Given the description of an element on the screen output the (x, y) to click on. 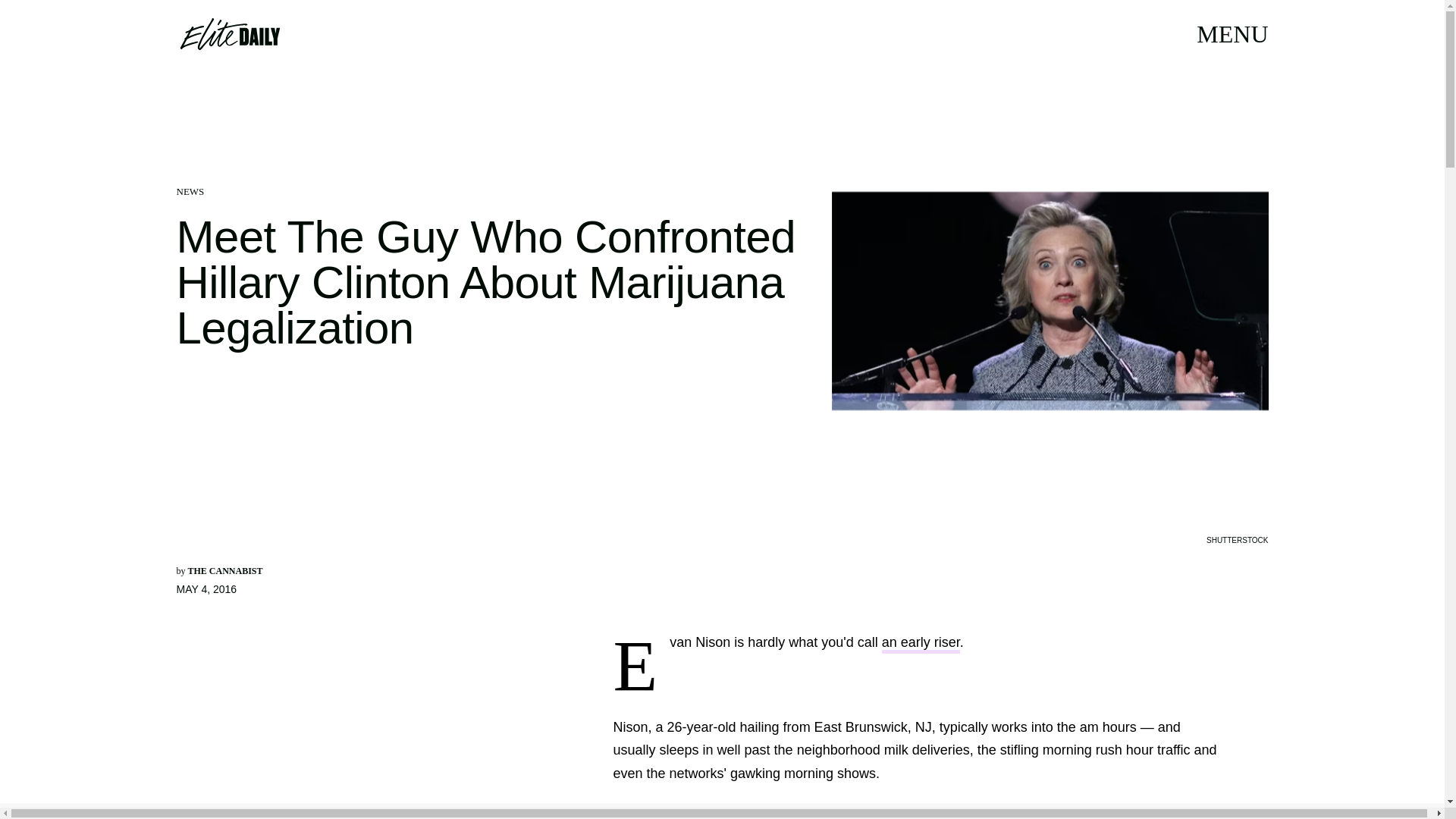
an early riser (920, 643)
Elite Daily (229, 33)
